Given the description of an element on the screen output the (x, y) to click on. 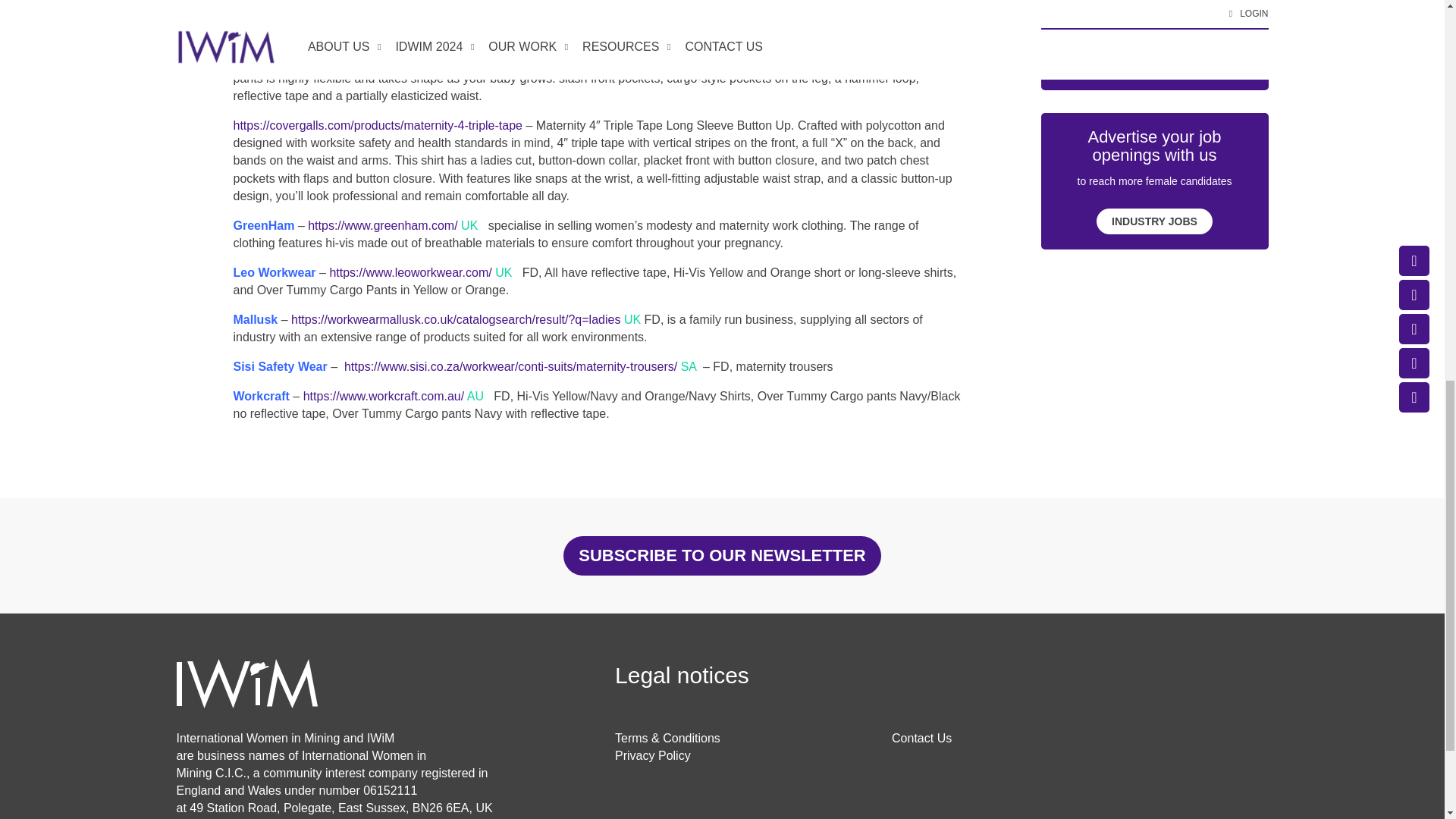
Industry Jobs (1154, 221)
Privacy Policy (652, 755)
Contact Us (921, 738)
Read more about us (1153, 62)
